Given the description of an element on the screen output the (x, y) to click on. 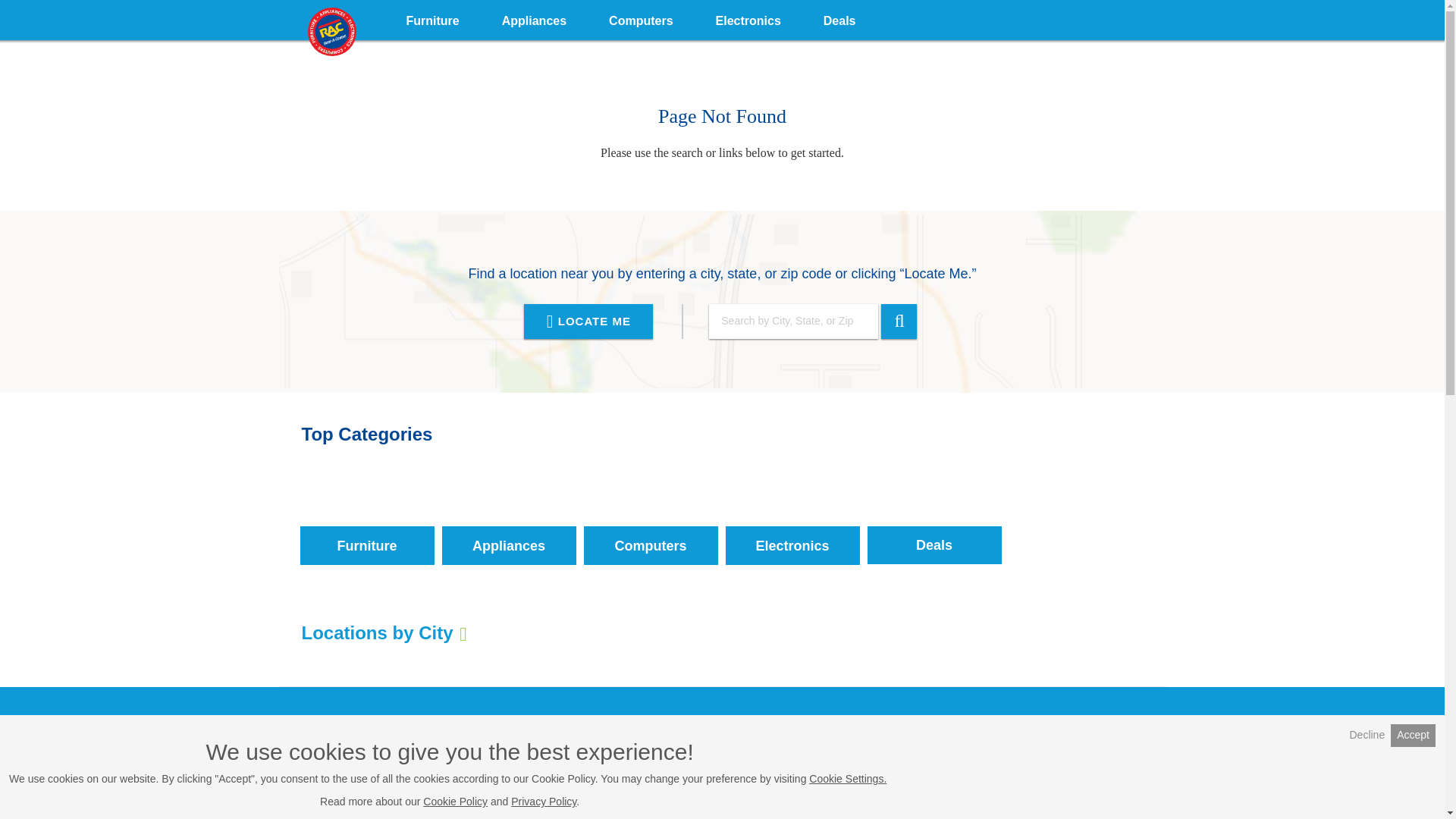
Computers (641, 18)
Electronics (748, 18)
Electronics (792, 515)
Deals (839, 18)
Furniture (366, 515)
LOCATE ME (588, 321)
Appliances (508, 515)
Furniture (432, 18)
Computers (650, 515)
Locations by City (384, 632)
